Given the description of an element on the screen output the (x, y) to click on. 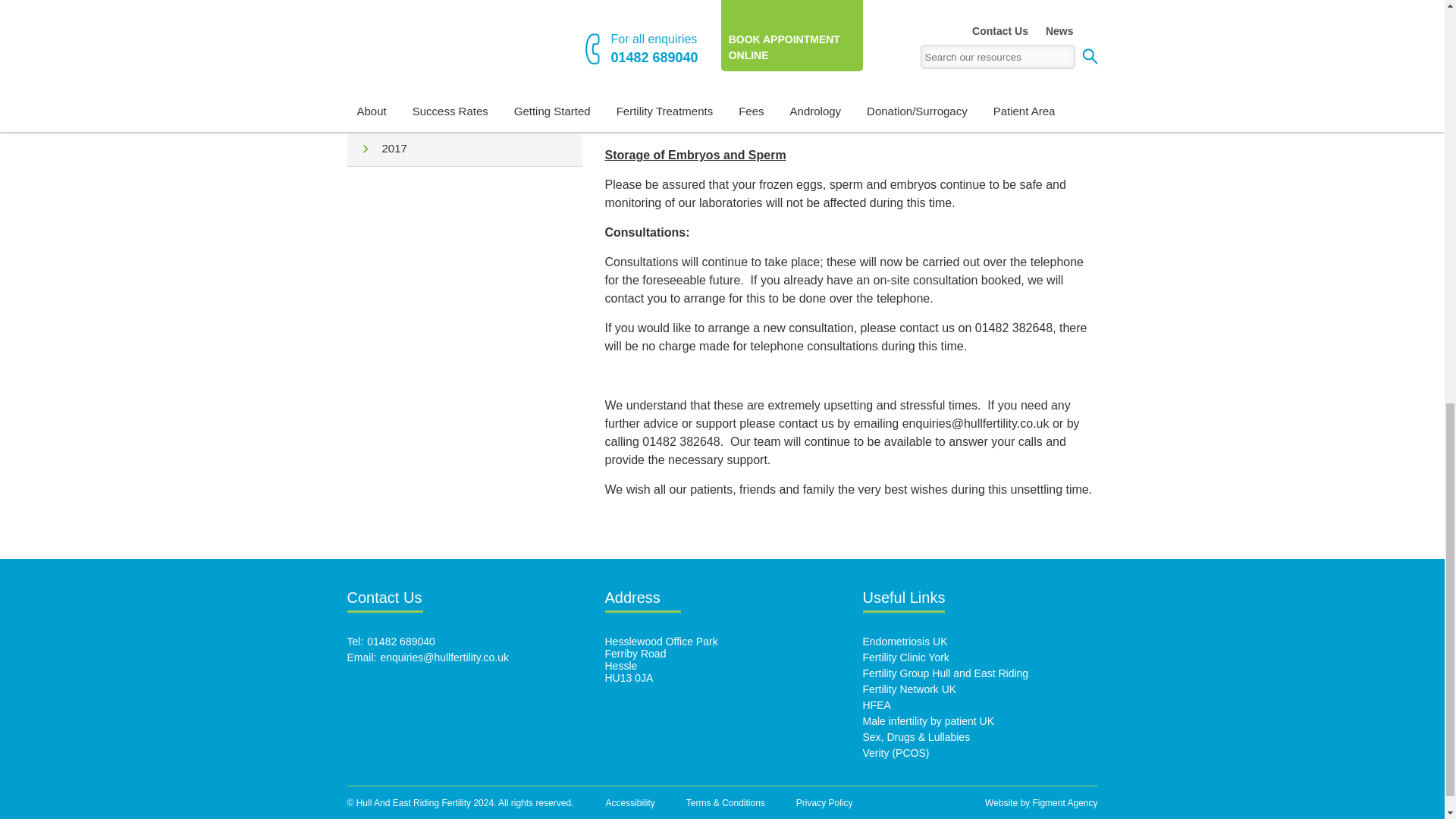
Human Fertilisation and Embryology Authority (877, 705)
The UK Polycystic Ovary Syndrome Charity (896, 752)
BBC Radio Humberside programme  (917, 736)
